Given the description of an element on the screen output the (x, y) to click on. 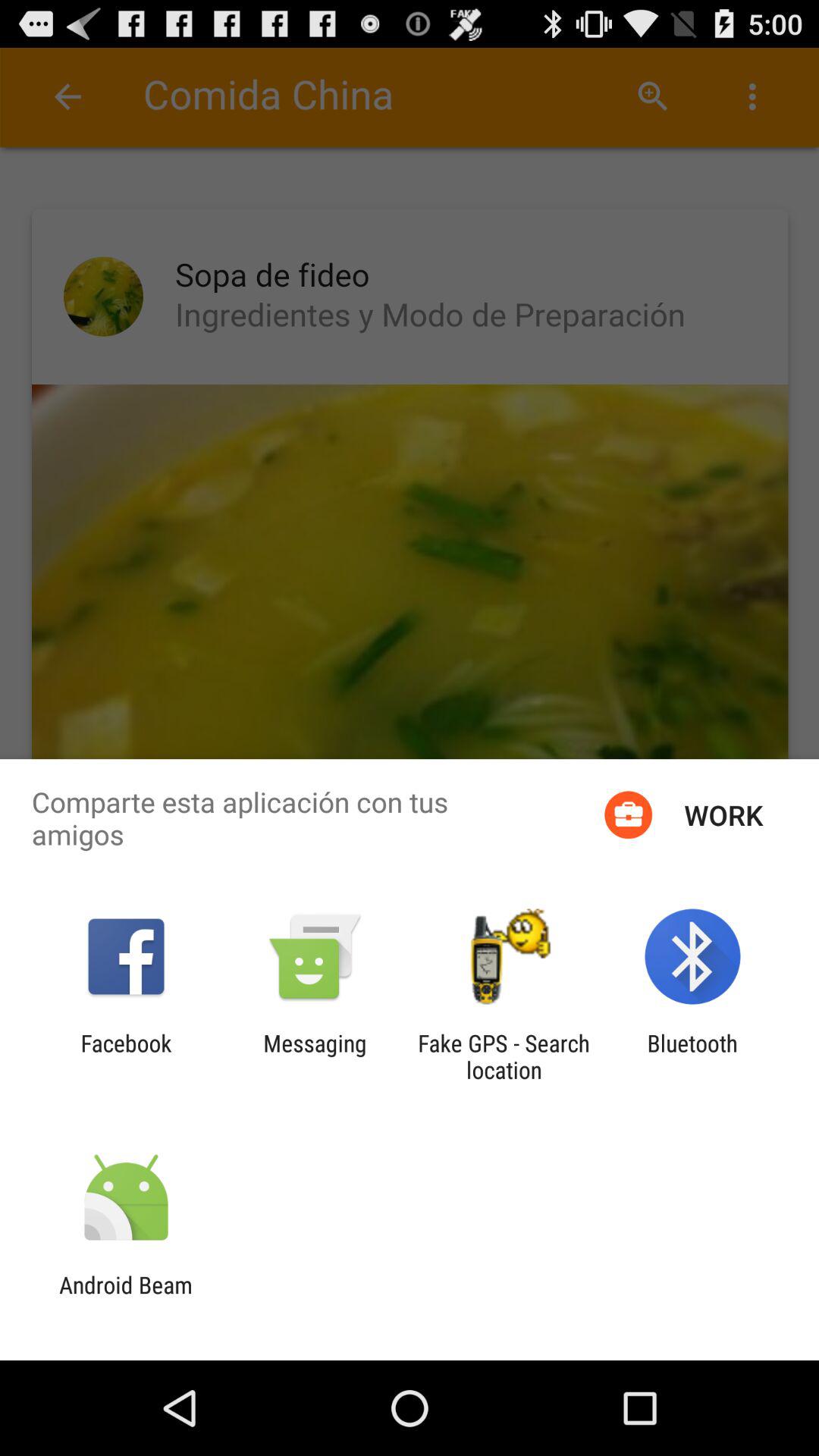
launch item next to the facebook (314, 1056)
